Given the description of an element on the screen output the (x, y) to click on. 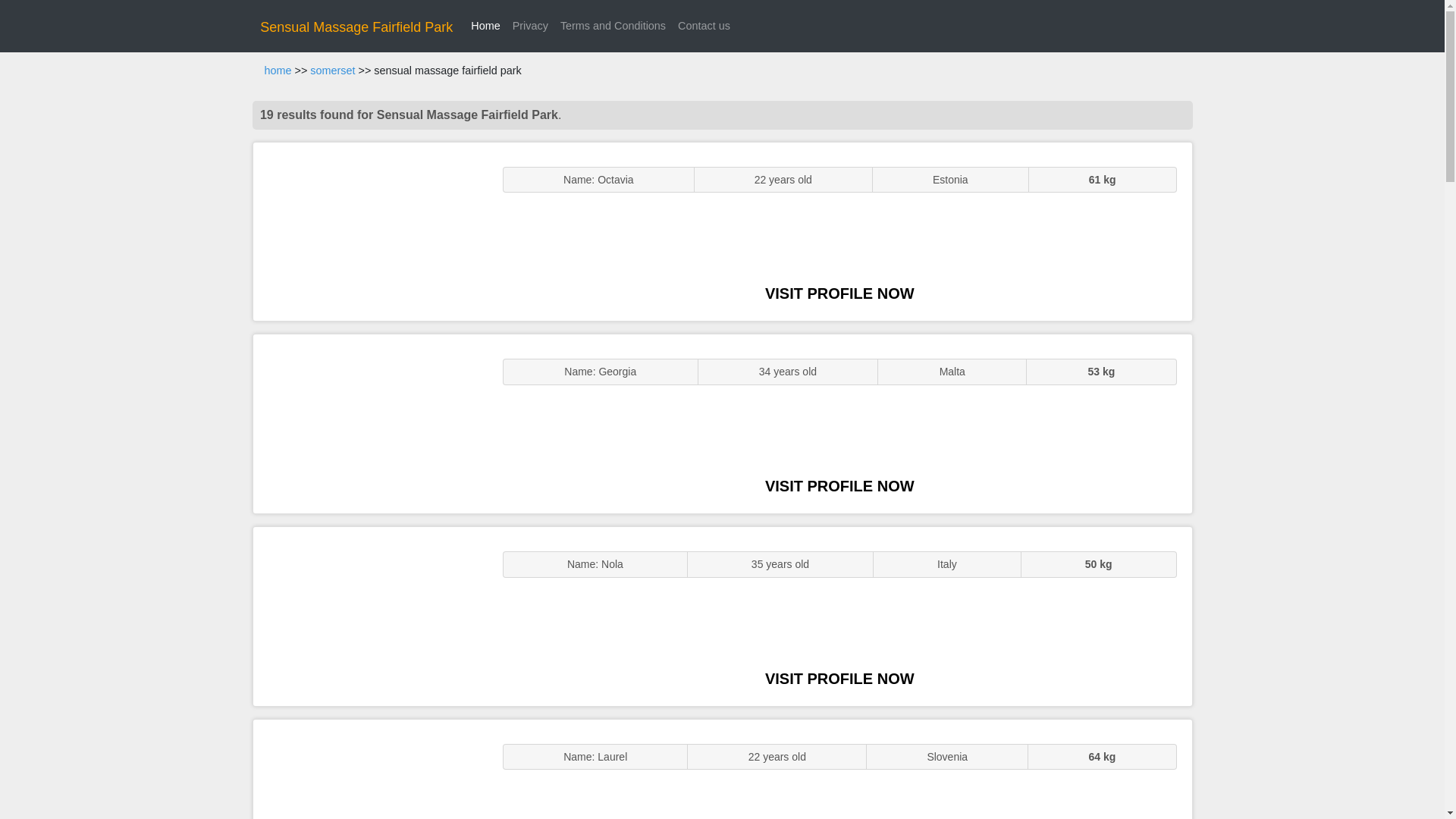
GFE (370, 423)
Sensual Massage Fairfield Park (356, 27)
somerset (332, 70)
VISIT PROFILE NOW (839, 678)
VISIT PROFILE NOW (839, 293)
Contact us (703, 25)
Sluts (370, 769)
Terms and Conditions (612, 25)
home (277, 70)
Sexy (370, 616)
VISIT PROFILE NOW (839, 485)
Privacy (530, 25)
 ENGLISH STUNNER (370, 231)
